Given the description of an element on the screen output the (x, y) to click on. 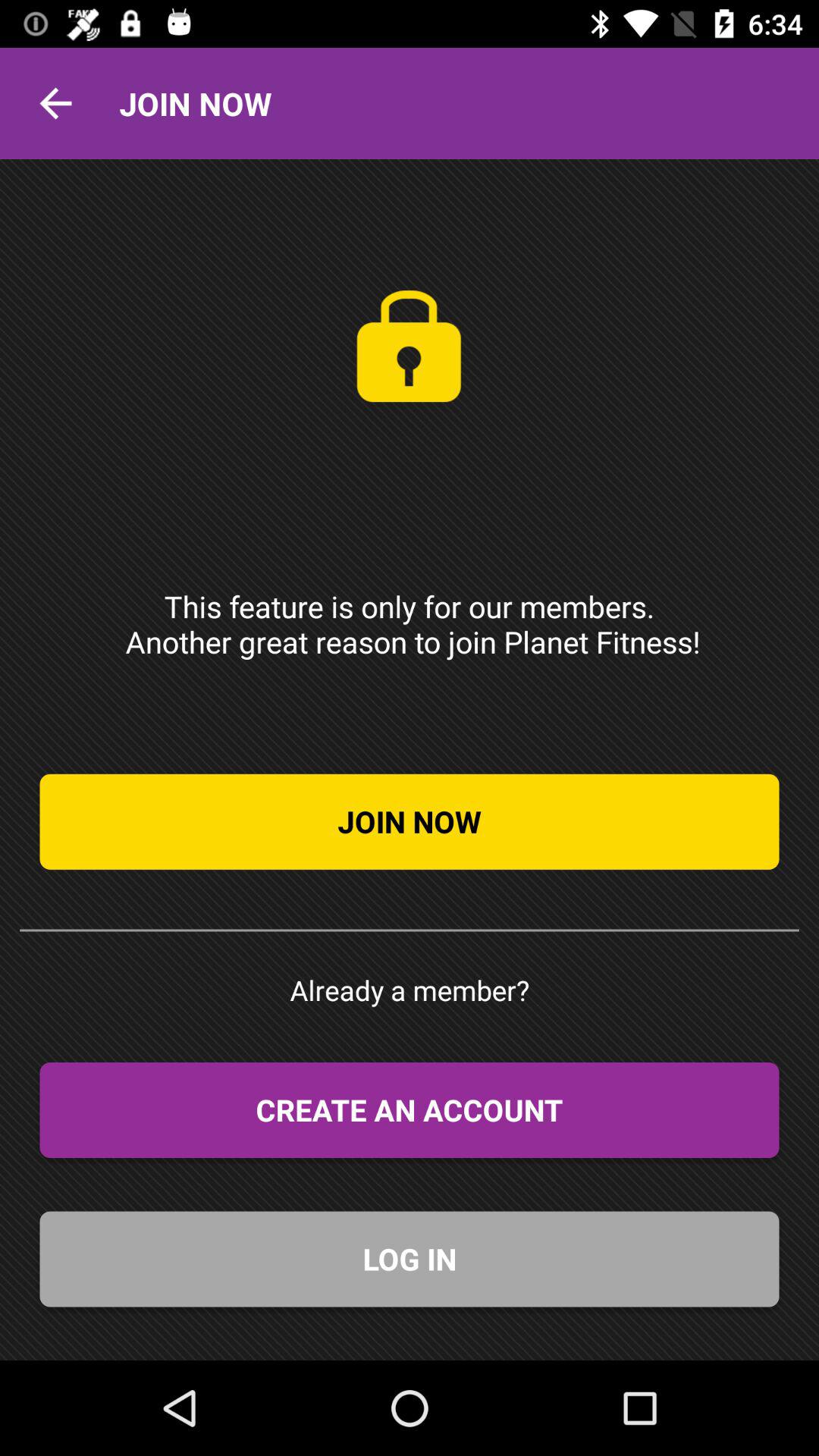
launch the icon below the already a member? item (409, 1109)
